Given the description of an element on the screen output the (x, y) to click on. 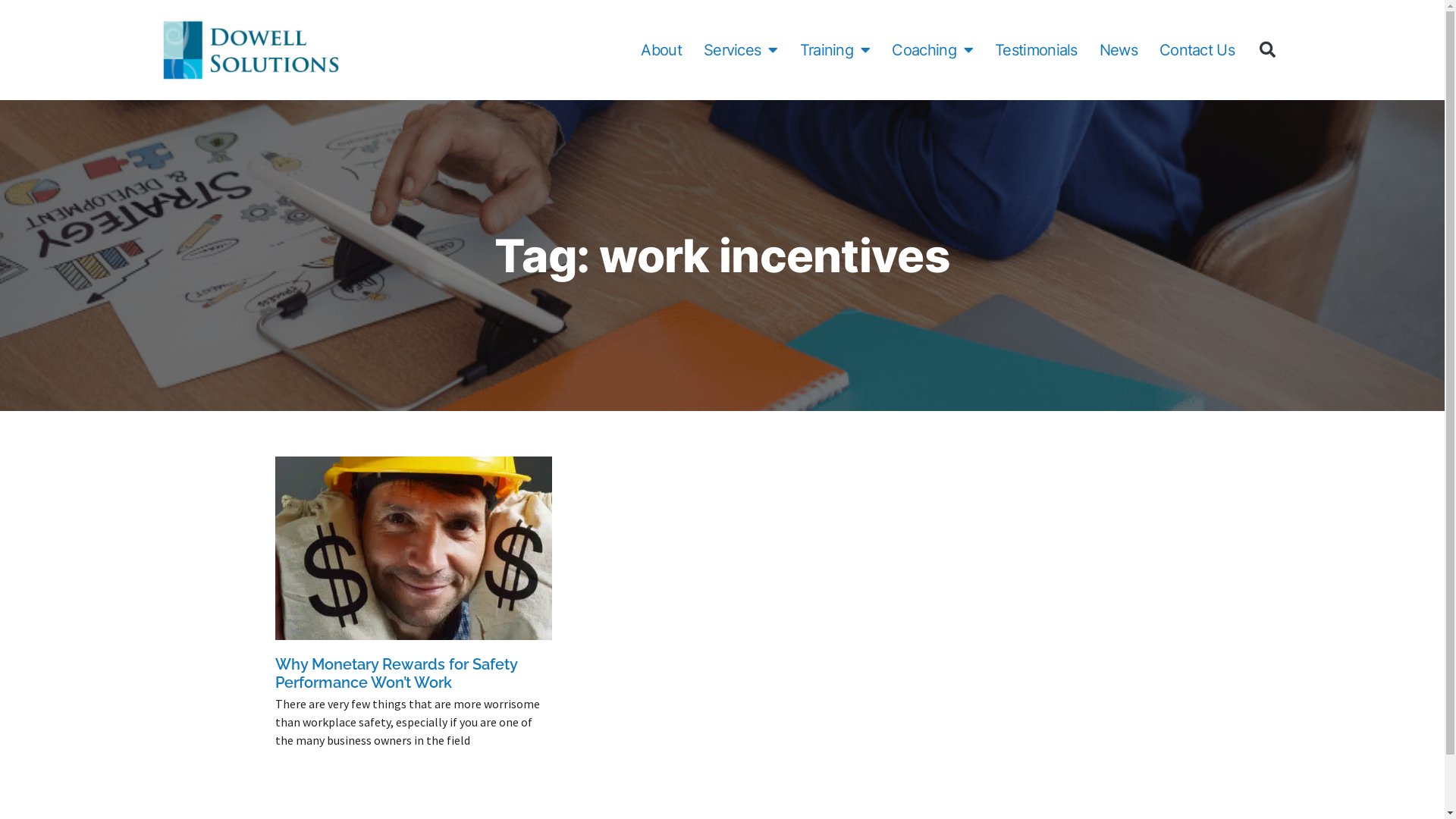
Services Element type: text (740, 49)
Training Element type: text (835, 49)
Coaching Element type: text (931, 49)
News Element type: text (1118, 49)
Testimonials Element type: text (1035, 49)
About Element type: text (660, 49)
Contact Us Element type: text (1196, 49)
